Given the description of an element on the screen output the (x, y) to click on. 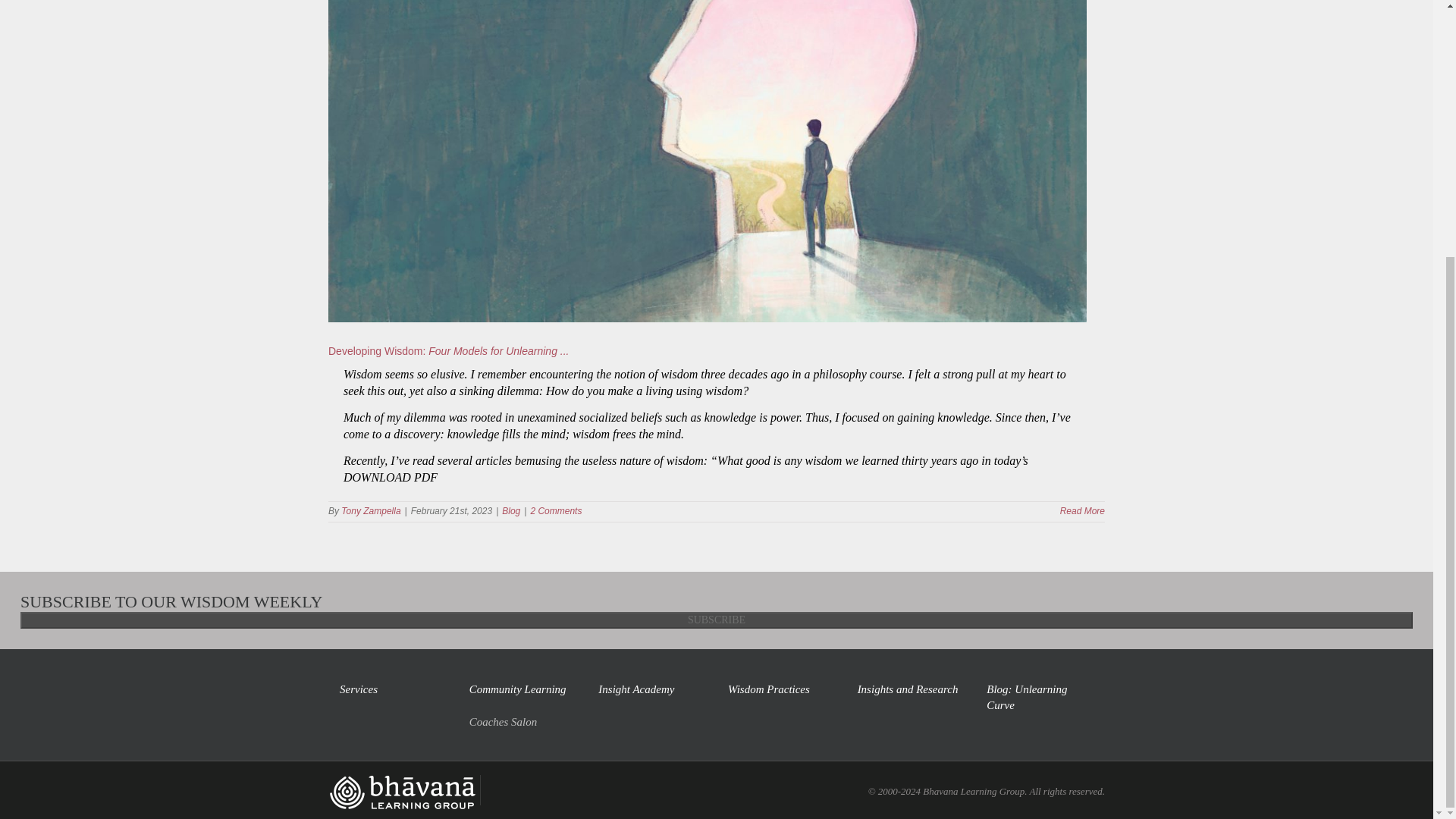
Subscribe (716, 619)
Tony Zampella (370, 511)
Subscribe (716, 619)
2 Comments (554, 511)
Developing Wisdom: Four Models for Unlearning ... (449, 350)
Blog: Unlearning Curve (1040, 697)
Coaches Salon (522, 717)
Read More (1082, 511)
Blog (510, 511)
Insights and Research (910, 689)
Insight Academy (651, 689)
Community Learning (522, 689)
Posts by Tony Zampella (370, 511)
Wisdom Practices (781, 689)
Services (392, 689)
